Given the description of an element on the screen output the (x, y) to click on. 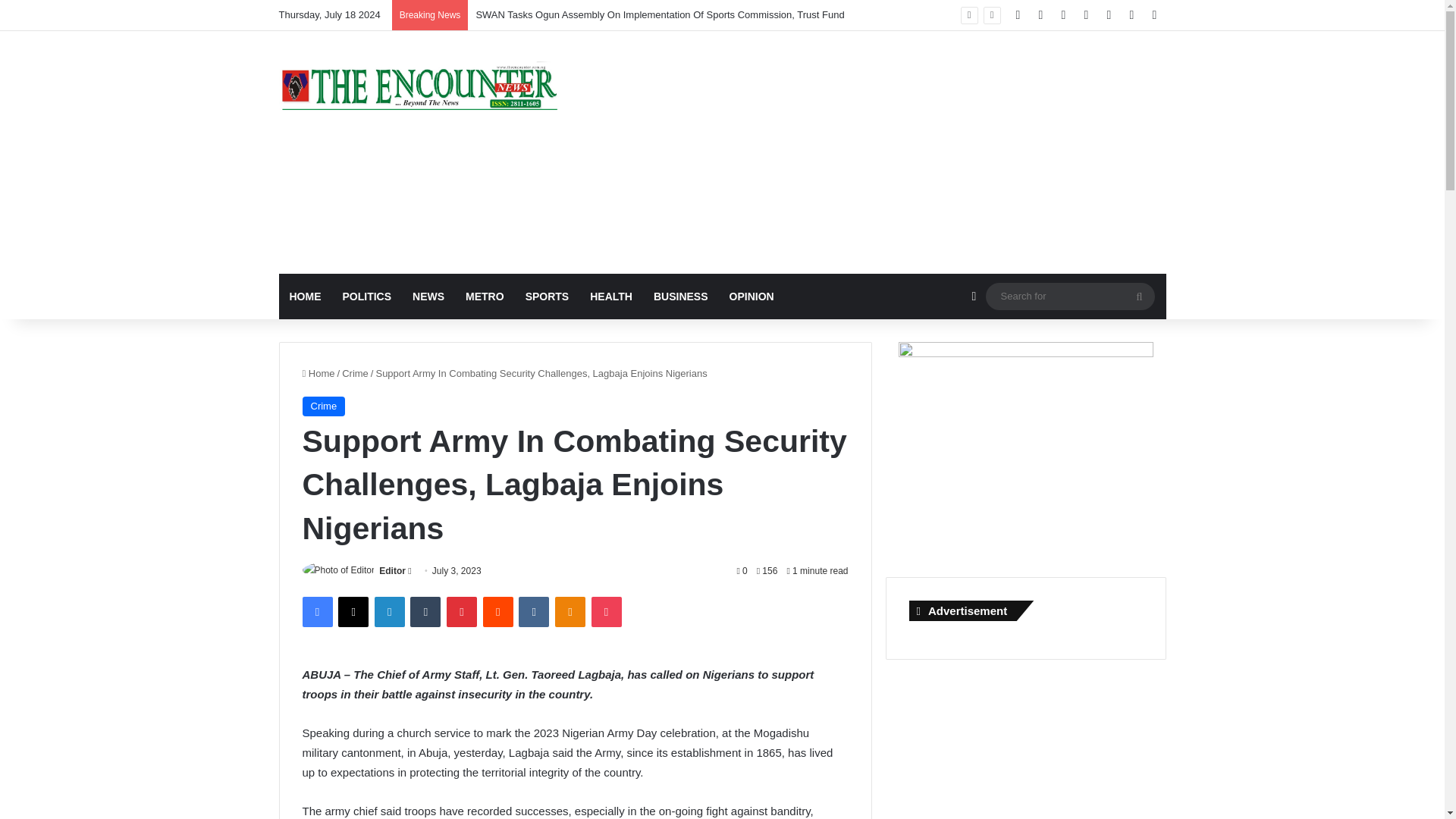
Tumblr (425, 612)
Odnoklassniki (569, 612)
Pocket (606, 612)
Reddit (498, 612)
METRO (484, 296)
Facebook (316, 612)
Editor (392, 570)
Search for (1139, 296)
X (352, 612)
BUSINESS (681, 296)
THE ENCOUNTER (419, 85)
Advertisement (874, 151)
Editor (392, 570)
X (352, 612)
HOME (305, 296)
